Given the description of an element on the screen output the (x, y) to click on. 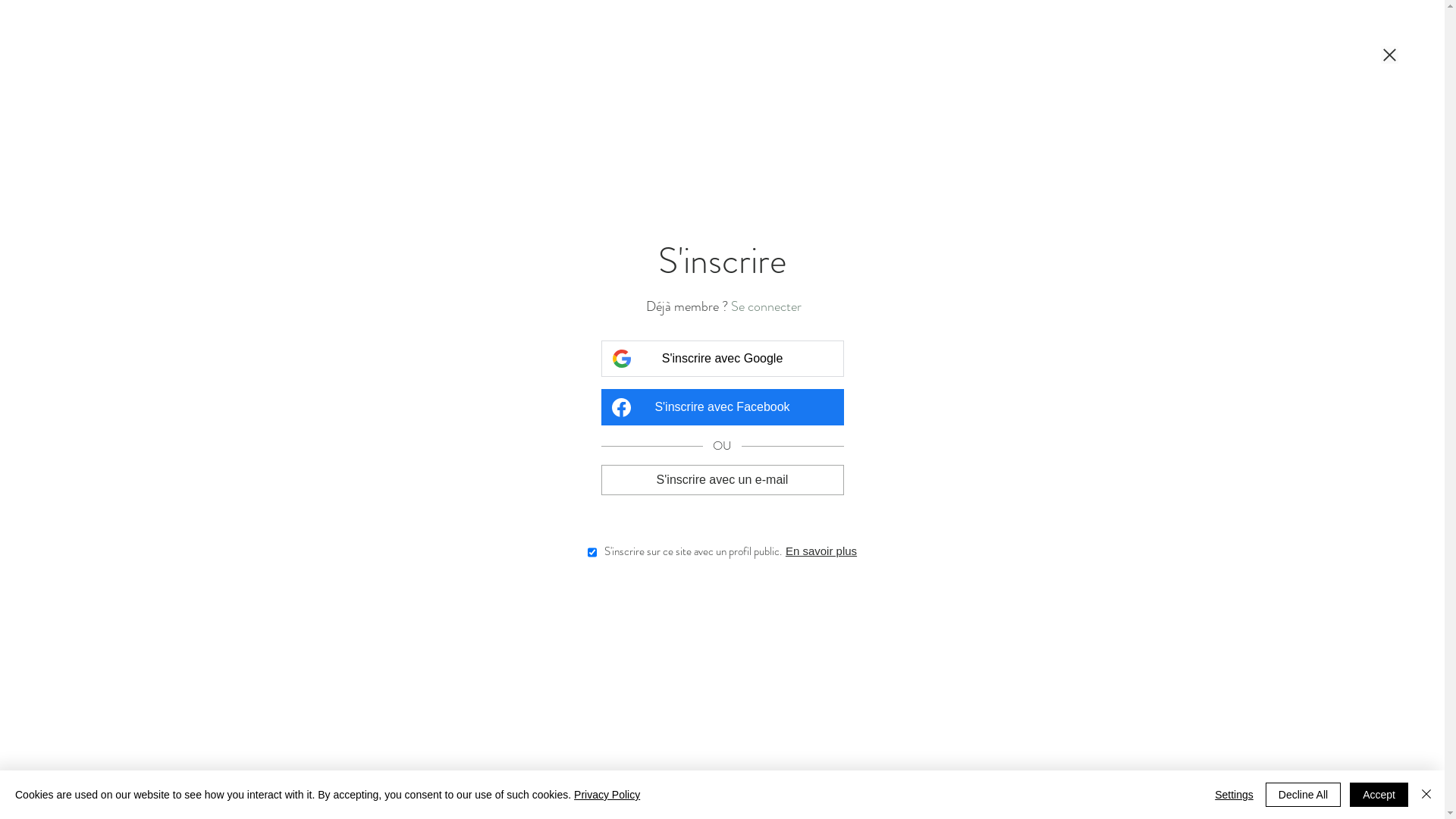
Privacy Policy Element type: text (607, 794)
S'inscrire avec un e-mail Element type: text (721, 479)
Accept Element type: text (1378, 794)
Se connecter Element type: text (766, 306)
Decline All Element type: text (1302, 794)
S'inscrire avec Google Element type: text (721, 358)
S'inscrire avec Facebook Element type: text (721, 407)
En savoir plus Element type: text (820, 550)
